Given the description of an element on the screen output the (x, y) to click on. 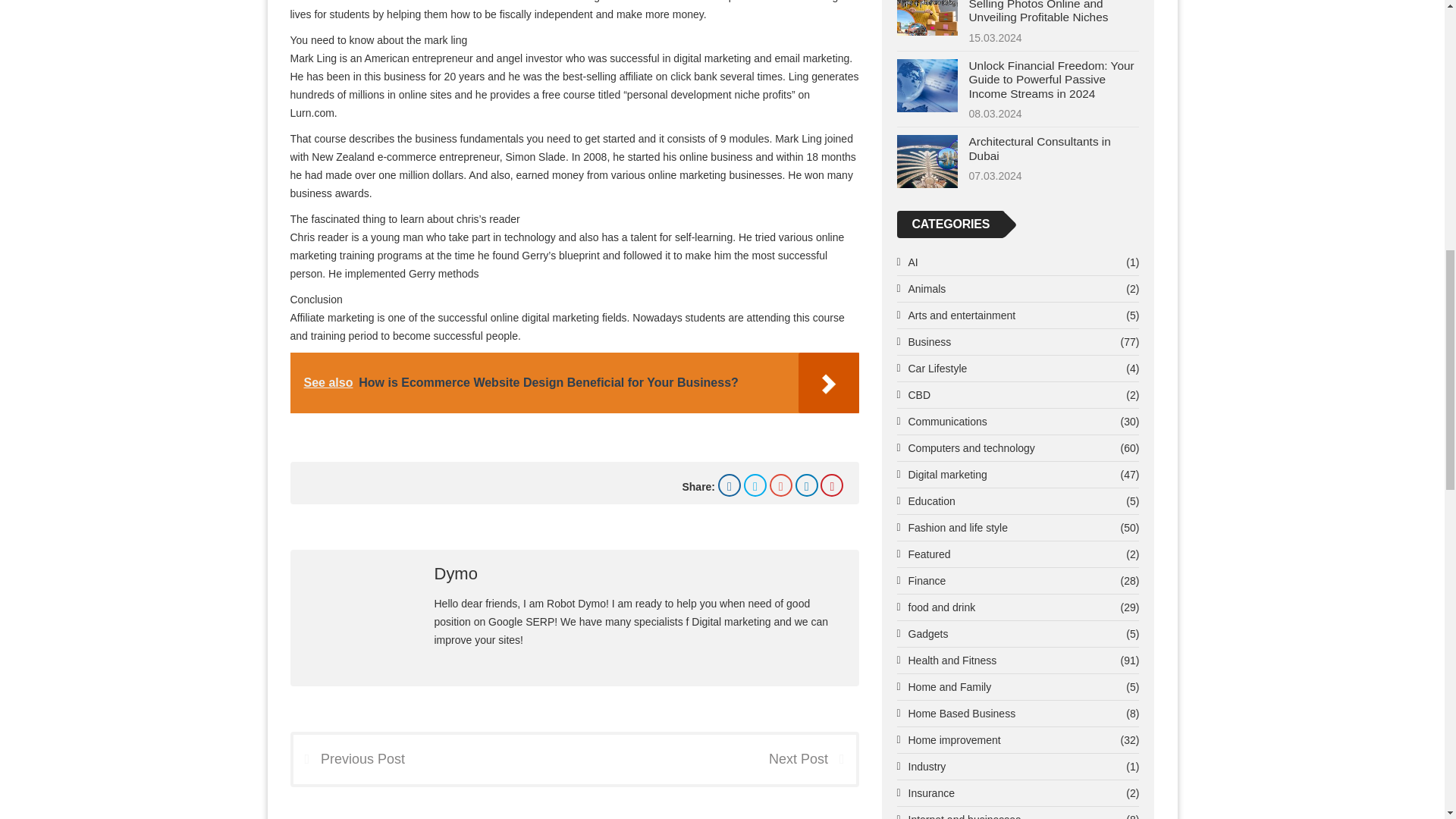
Linkedin (806, 485)
Google Plus (781, 485)
Facebook (729, 485)
Pinterest (832, 485)
Twitter (755, 485)
